Given the description of an element on the screen output the (x, y) to click on. 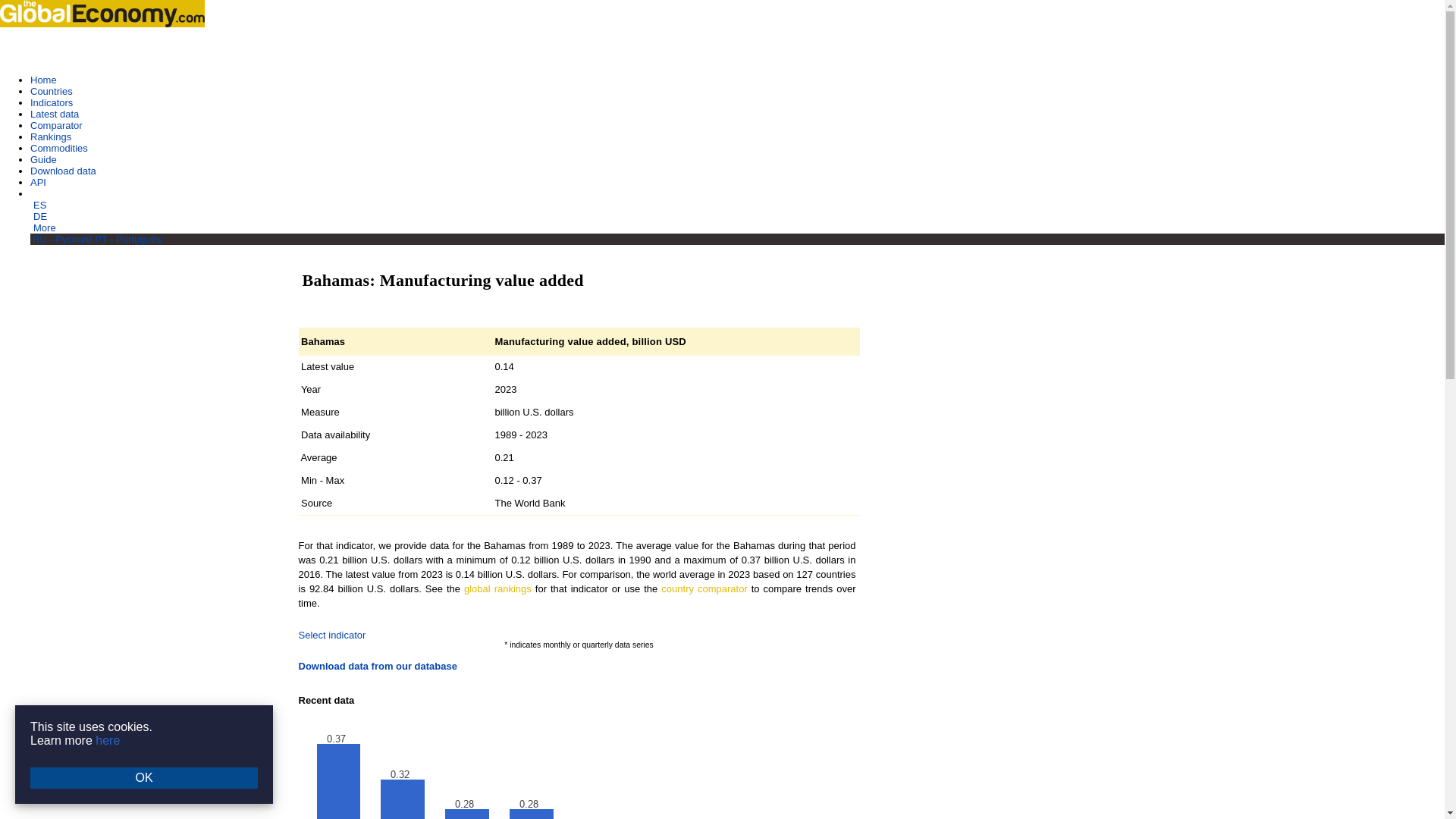
The World Bank (529, 502)
Rankings (50, 136)
Latest data (54, 113)
Download data (63, 170)
Comparator (56, 125)
API (38, 182)
Commodities (58, 147)
ES (39, 204)
Home (43, 79)
EN (38, 193)
